Given the description of an element on the screen output the (x, y) to click on. 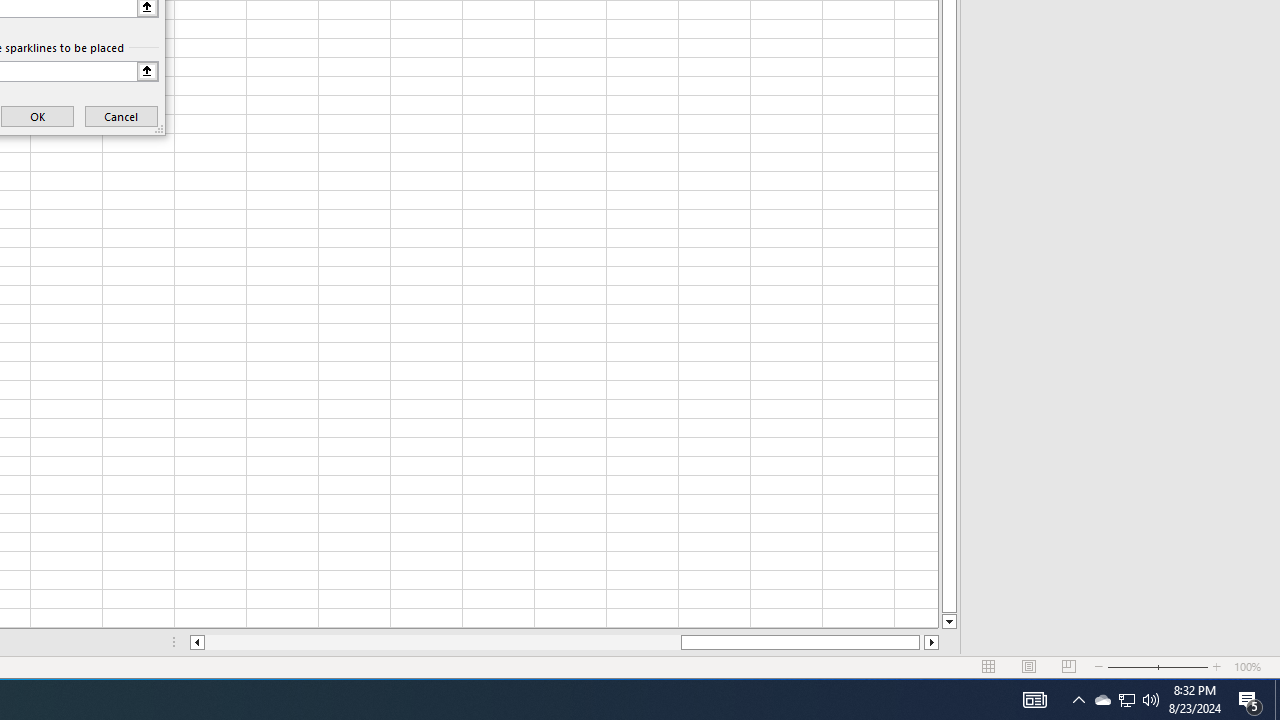
Zoom (1158, 667)
Zoom Out (1131, 667)
Zoom In (1217, 667)
Page left (442, 642)
Normal (988, 667)
Column right (932, 642)
Line down (948, 622)
Column left (196, 642)
Page Break Preview (1069, 667)
Class: NetUIScrollBar (564, 642)
Page right (922, 642)
